Given the description of an element on the screen output the (x, y) to click on. 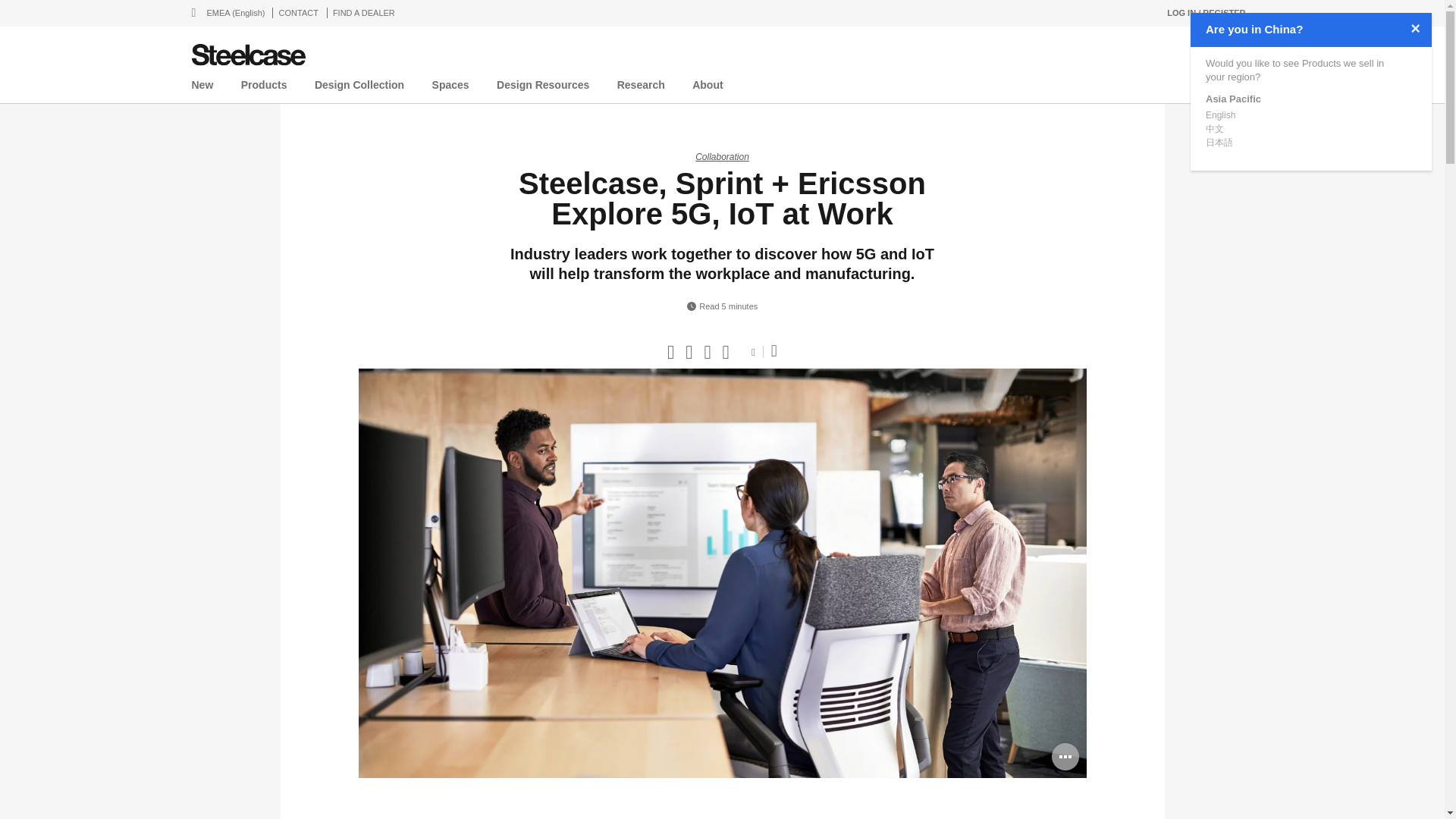
FIND A DEALER (363, 12)
CONTACT (298, 12)
English (1219, 111)
Products (263, 87)
New (202, 87)
